Given the description of an element on the screen output the (x, y) to click on. 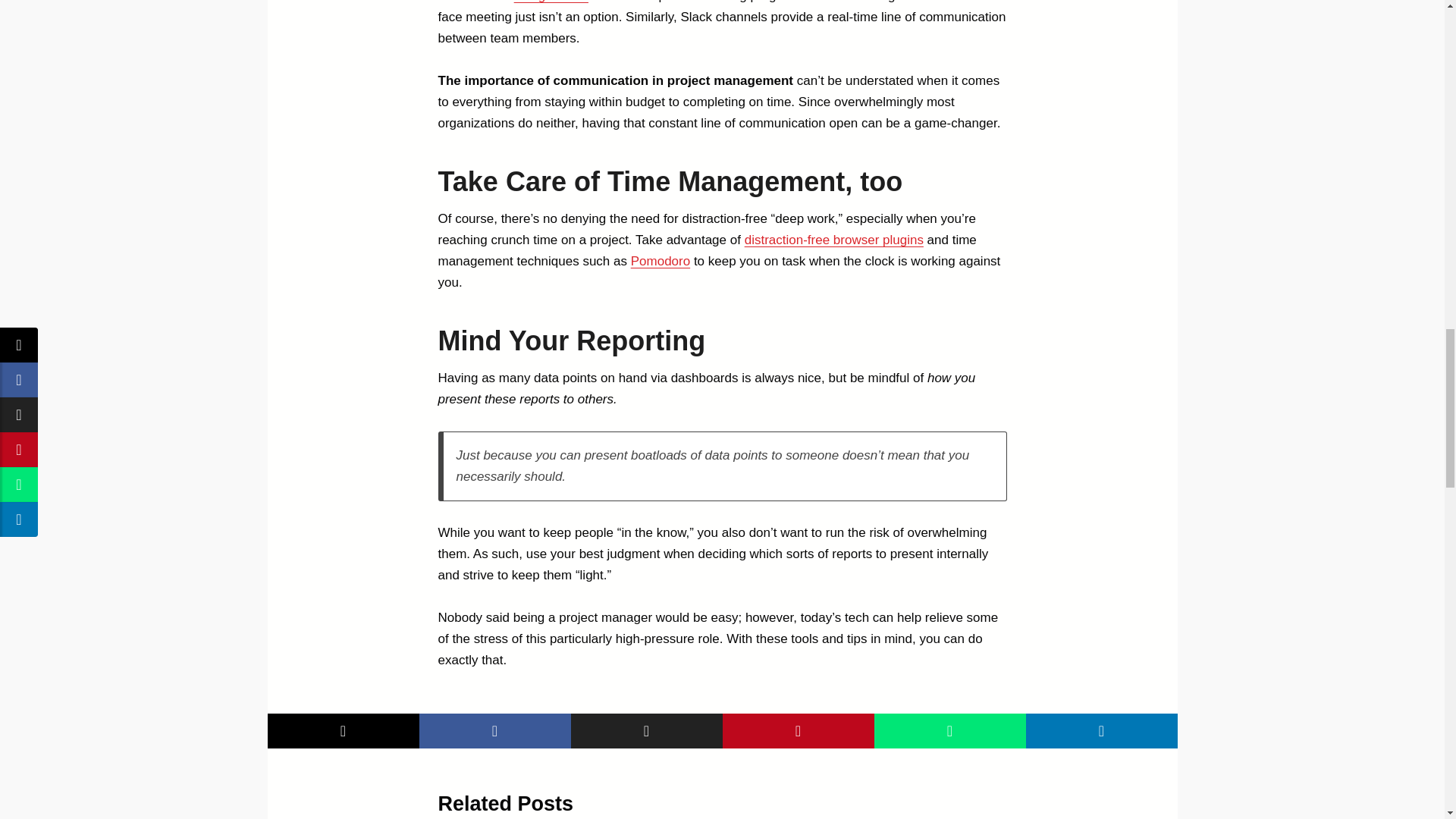
distraction-free browser plugins (833, 239)
Pomodoro (660, 260)
Google Docs (550, 1)
